Given the description of an element on the screen output the (x, y) to click on. 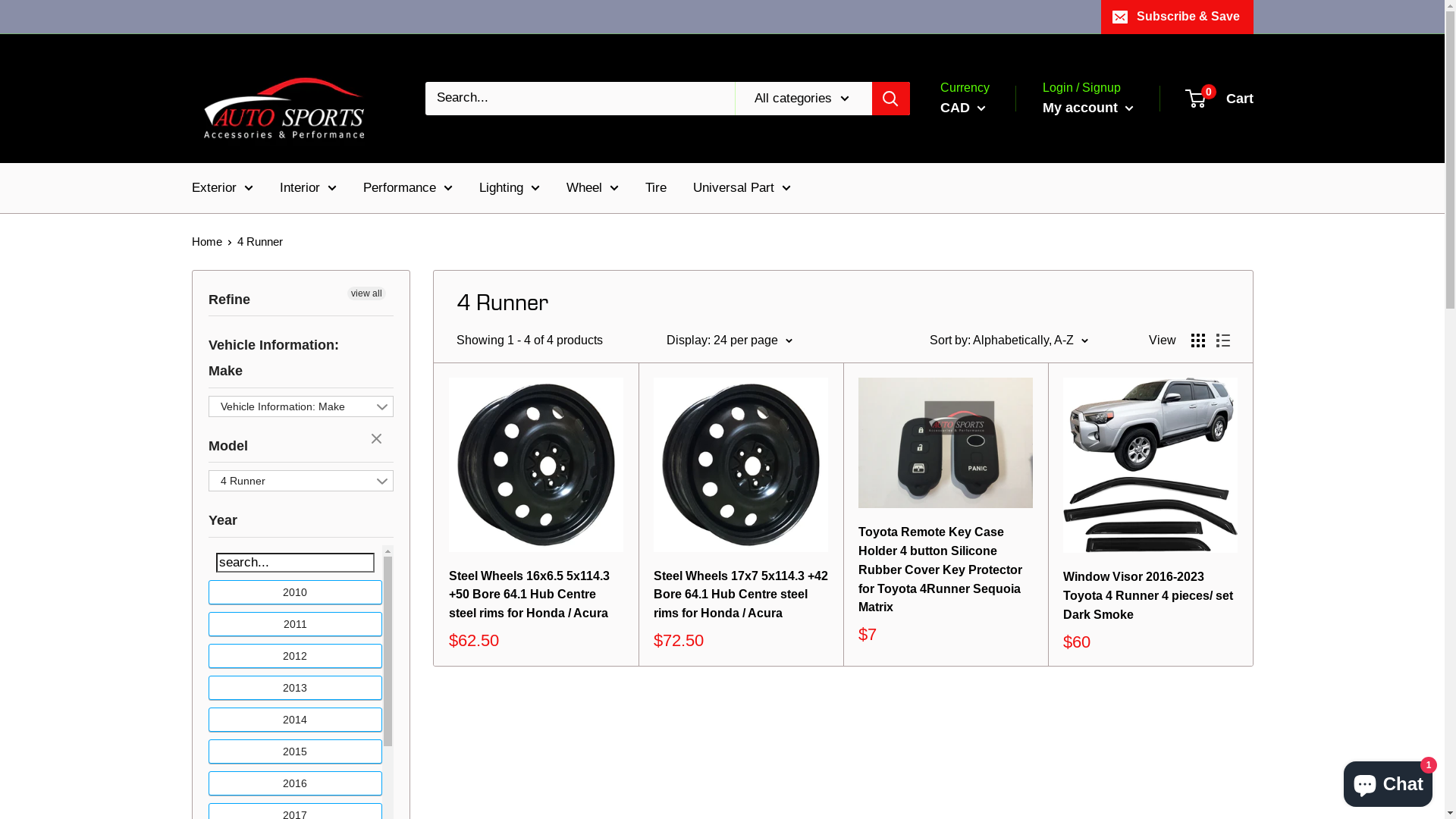
0
Cart Element type: text (1219, 98)
Tire Element type: text (654, 187)
Interior Element type: text (307, 187)
Wheel Element type: text (591, 187)
view all Element type: text (366, 293)
Subscribe & Save Element type: text (1177, 16)
My account Element type: text (1086, 107)
Lighting Element type: text (509, 187)
Exterior Element type: text (221, 187)
2012 Element type: text (295, 655)
clear Element type: text (377, 439)
2010 Element type: text (295, 591)
Display: 24 per page Element type: text (728, 340)
2014 Element type: text (295, 719)
2016 Element type: text (295, 782)
Performance Element type: text (406, 187)
Home Element type: text (206, 241)
Universal Part Element type: text (741, 187)
Shopify online store chat Element type: hover (1388, 780)
2013 Element type: text (295, 687)
CAD Element type: text (962, 107)
2011 Element type: text (295, 623)
Sort by: Alphabetically, A-Z Element type: text (1008, 340)
2015 Element type: text (295, 751)
